Given the description of an element on the screen output the (x, y) to click on. 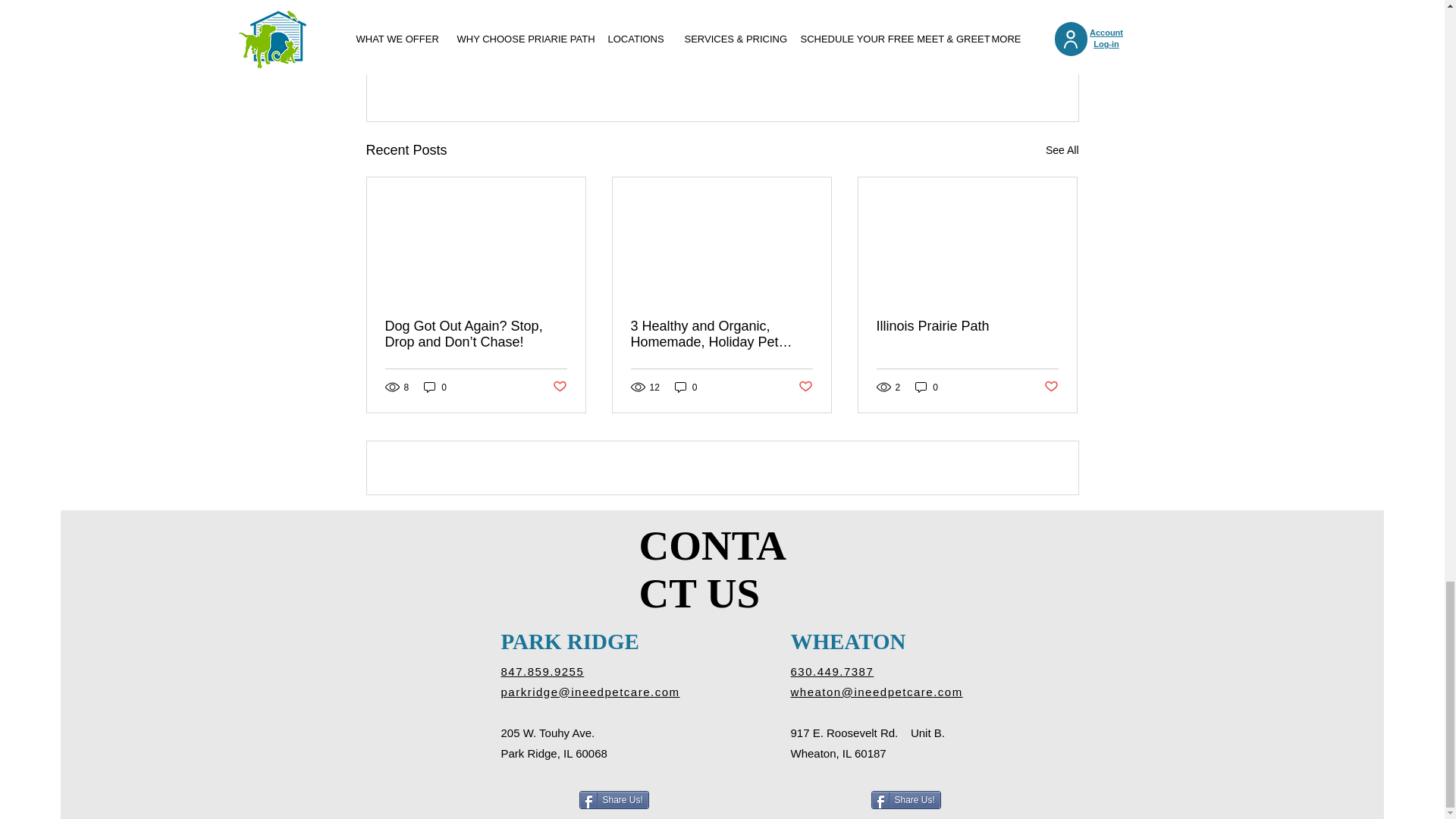
Share Us! (905, 800)
See All (1061, 149)
0 (435, 386)
Post not marked as liked (995, 67)
General (984, 21)
Share Us! (614, 800)
